Given the description of an element on the screen output the (x, y) to click on. 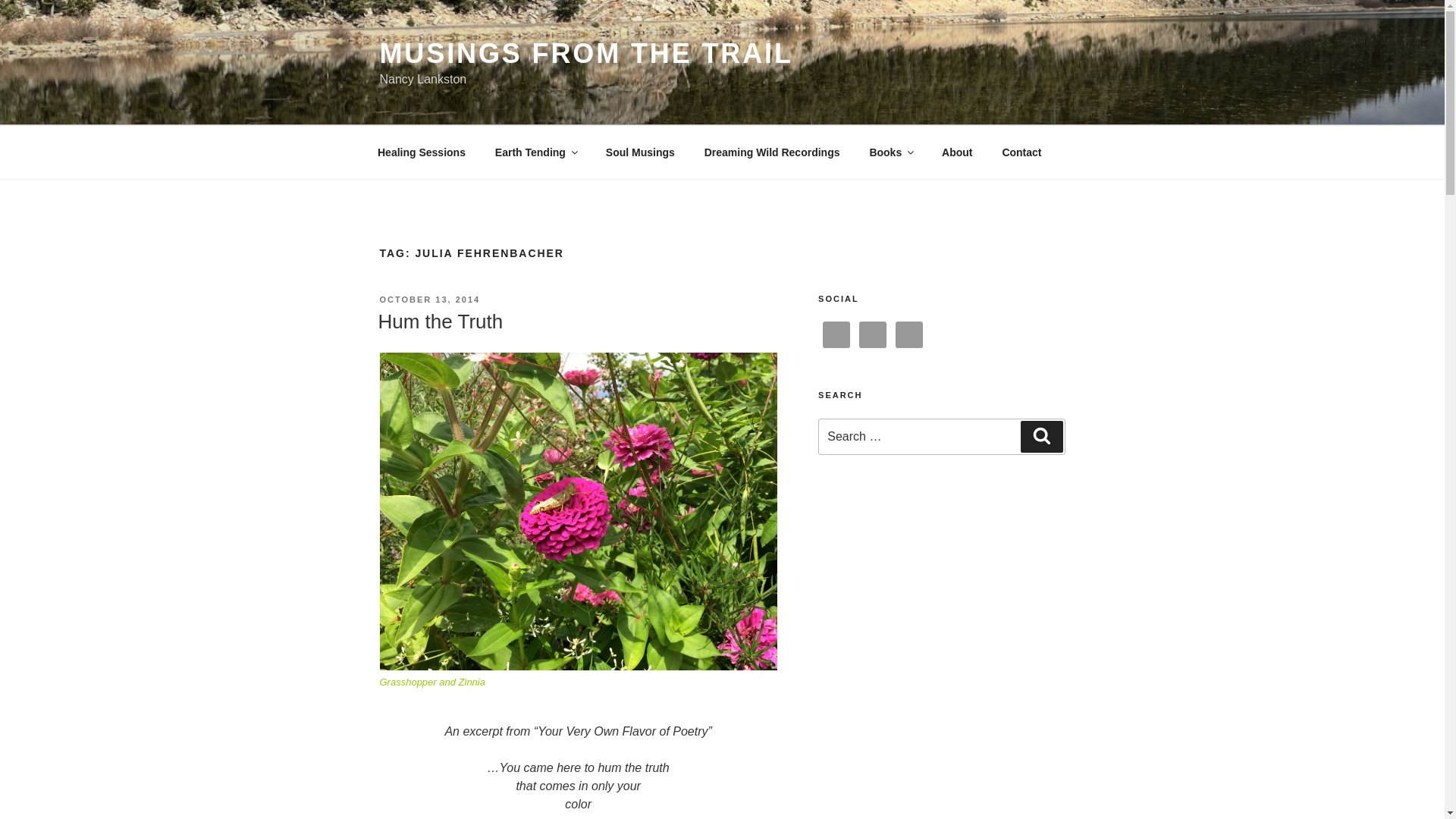
Dreaming Wild Recordings (771, 151)
Soul Musings (639, 151)
About (956, 151)
OCTOBER 13, 2014 (429, 298)
Books (891, 151)
Hum the Truth (439, 321)
Earth Tending (535, 151)
MUSINGS FROM THE TRAIL (585, 52)
Contact (1021, 151)
Search (1041, 436)
